Given the description of an element on the screen output the (x, y) to click on. 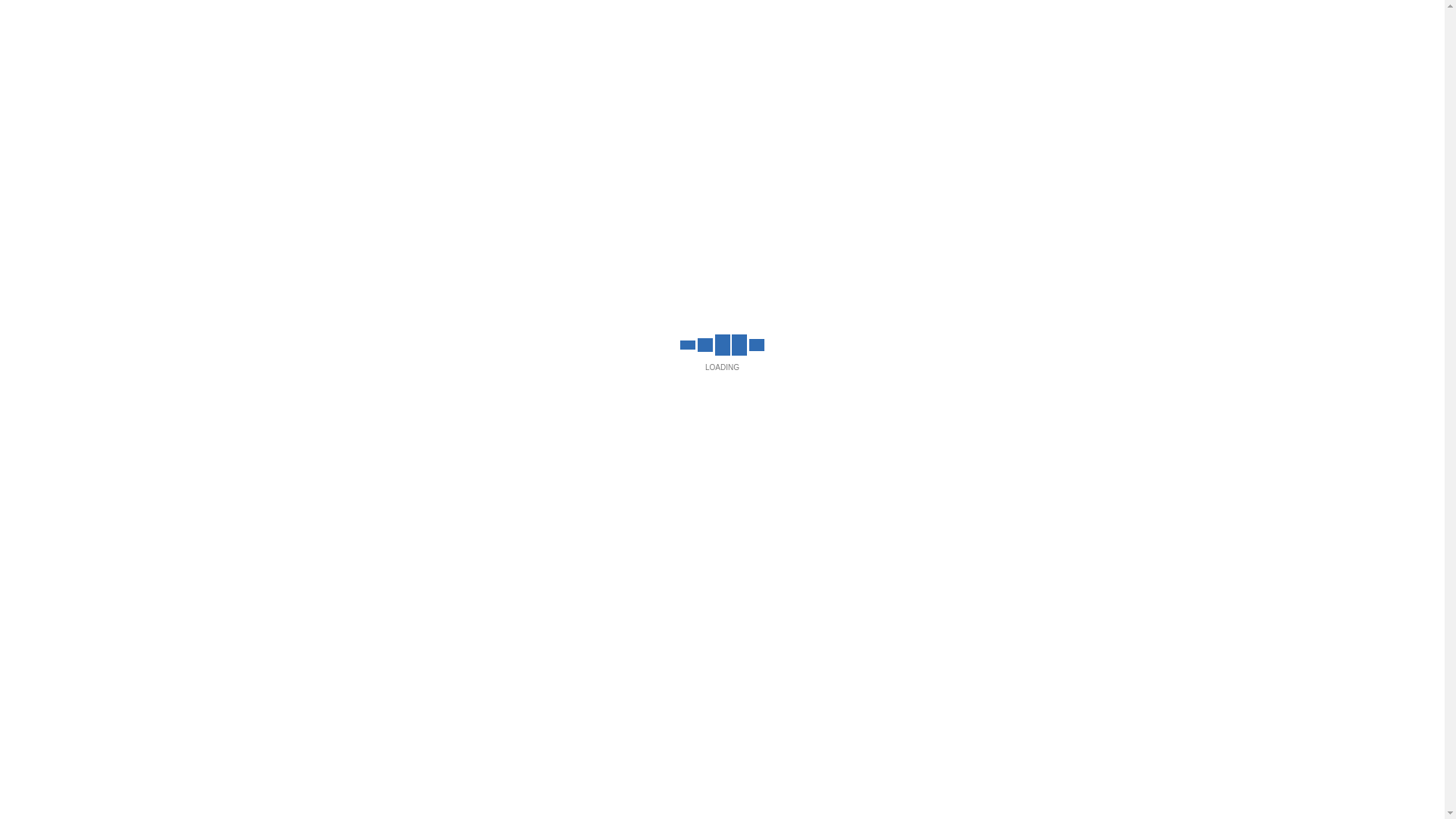
Gallery Element type: text (816, 108)
 Services Element type: text (414, 108)
Contact Us Element type: text (1129, 108)
Logo Element type: hover (675, 108)
 Packages Element type: text (523, 108)
0426 105 106 Element type: text (1108, 17)
About Us Element type: text (309, 108)
 Blog Element type: text (1031, 108)
 Testimonials Element type: text (926, 108)
